Given the description of an element on the screen output the (x, y) to click on. 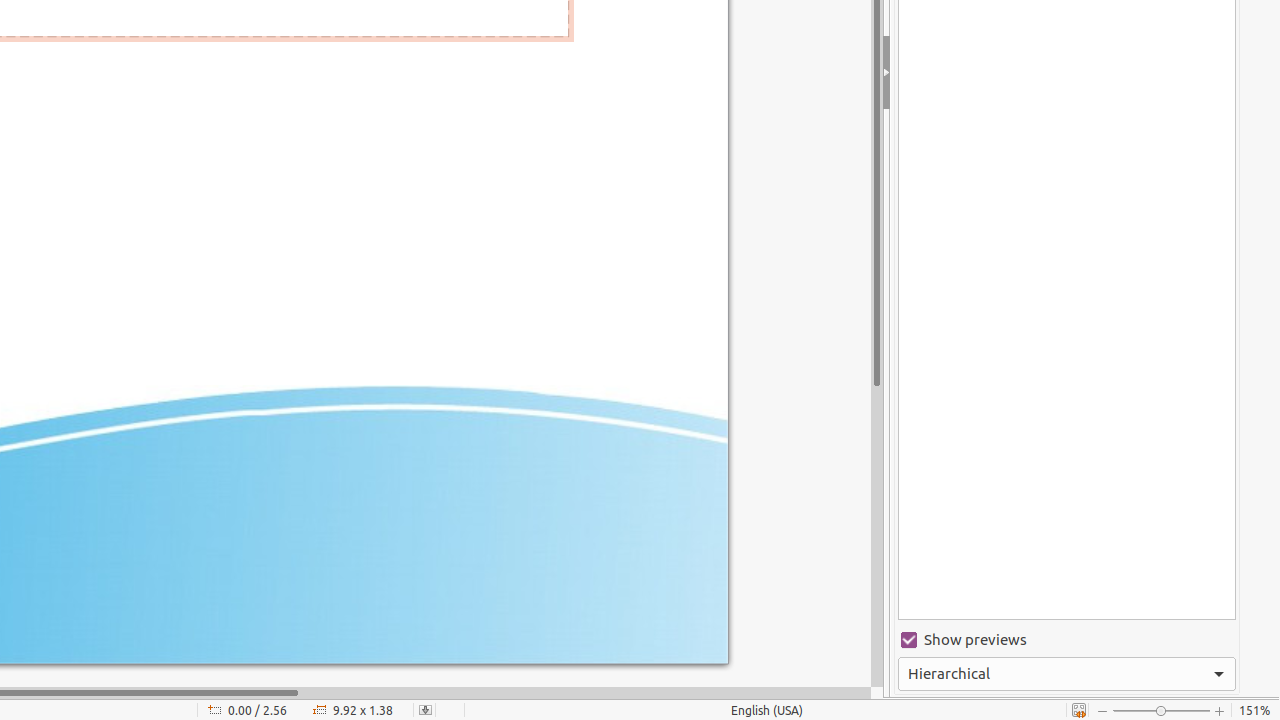
Show previews Element type: check-box (1067, 640)
